Given the description of an element on the screen output the (x, y) to click on. 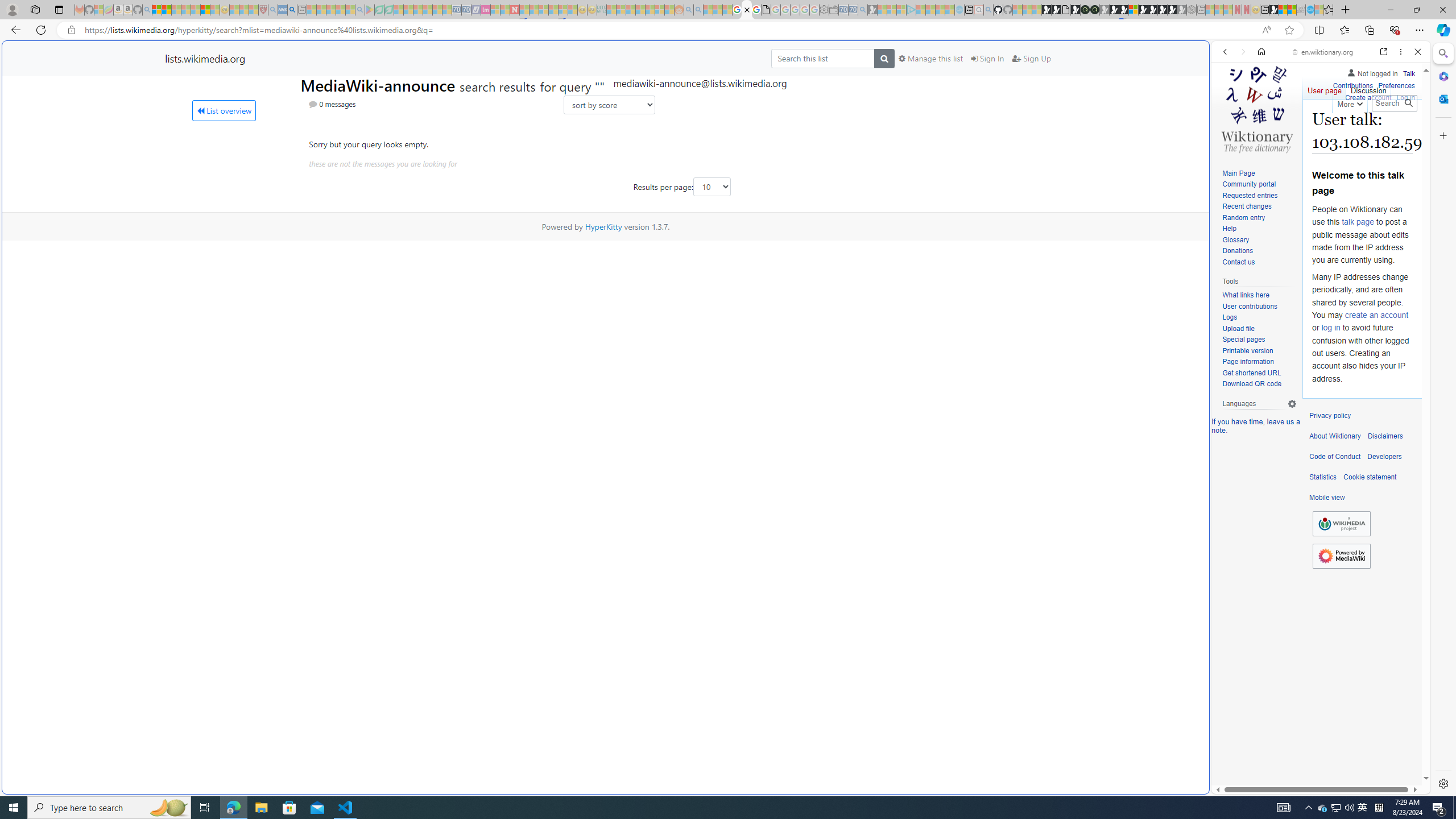
Special pages (1243, 339)
Upload file (1238, 328)
Wiktionary (1315, 380)
MediaWiki-announce  (379, 84)
Statistics (1322, 477)
Settings - Sleeping (823, 9)
Expert Portfolios - Sleeping (639, 9)
Future Focus Report 2024 (1094, 9)
Recent changes (1246, 206)
Developers (1384, 456)
